Given the description of an element on the screen output the (x, y) to click on. 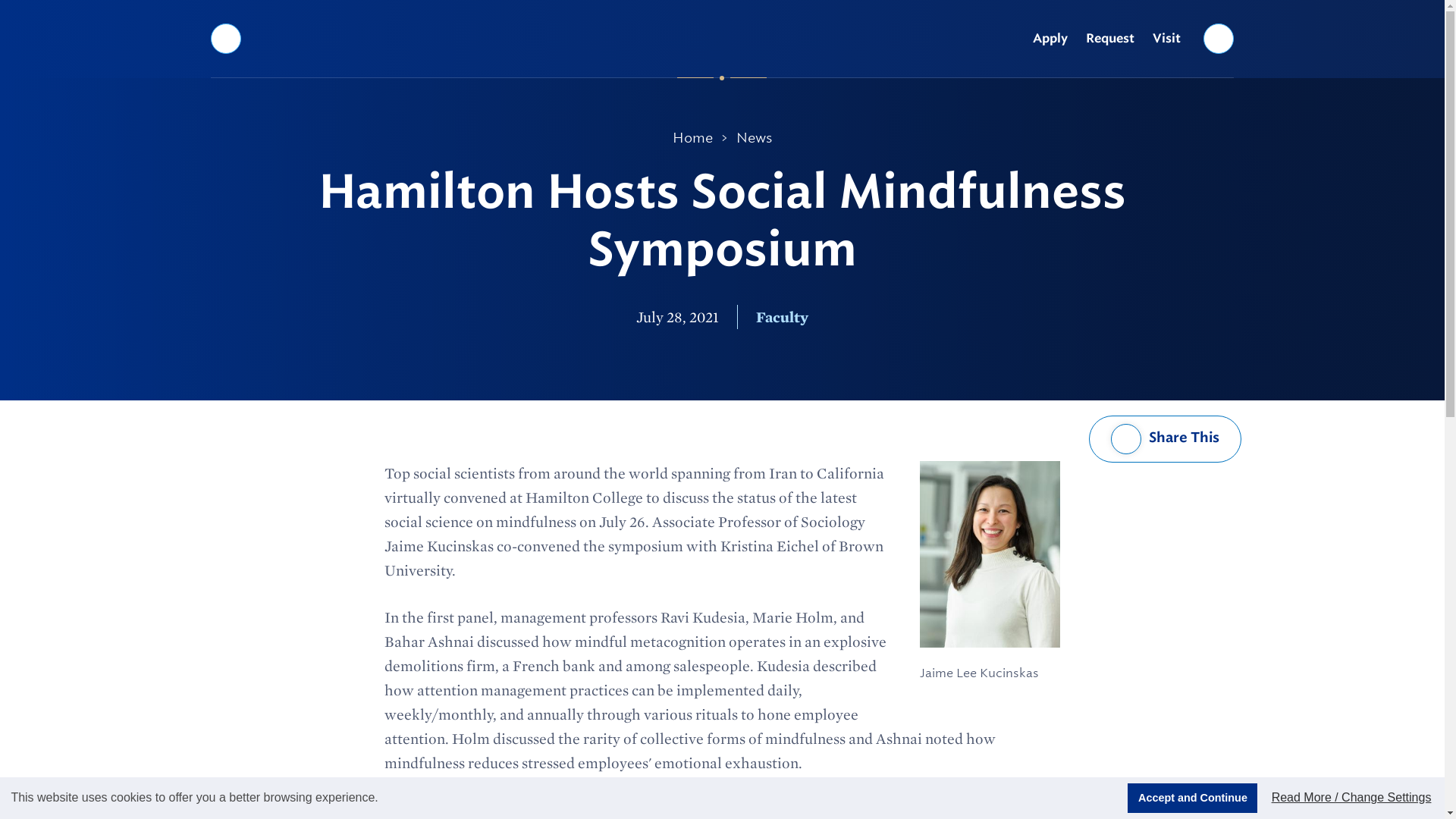
Search (1218, 38)
Share This (1165, 438)
Home (692, 138)
Visit (1165, 38)
Request (1109, 38)
Faculty (781, 316)
Hamilton (721, 38)
Accept and Continue (1191, 797)
Menu (225, 38)
Apply (1050, 38)
News (753, 138)
